Given the description of an element on the screen output the (x, y) to click on. 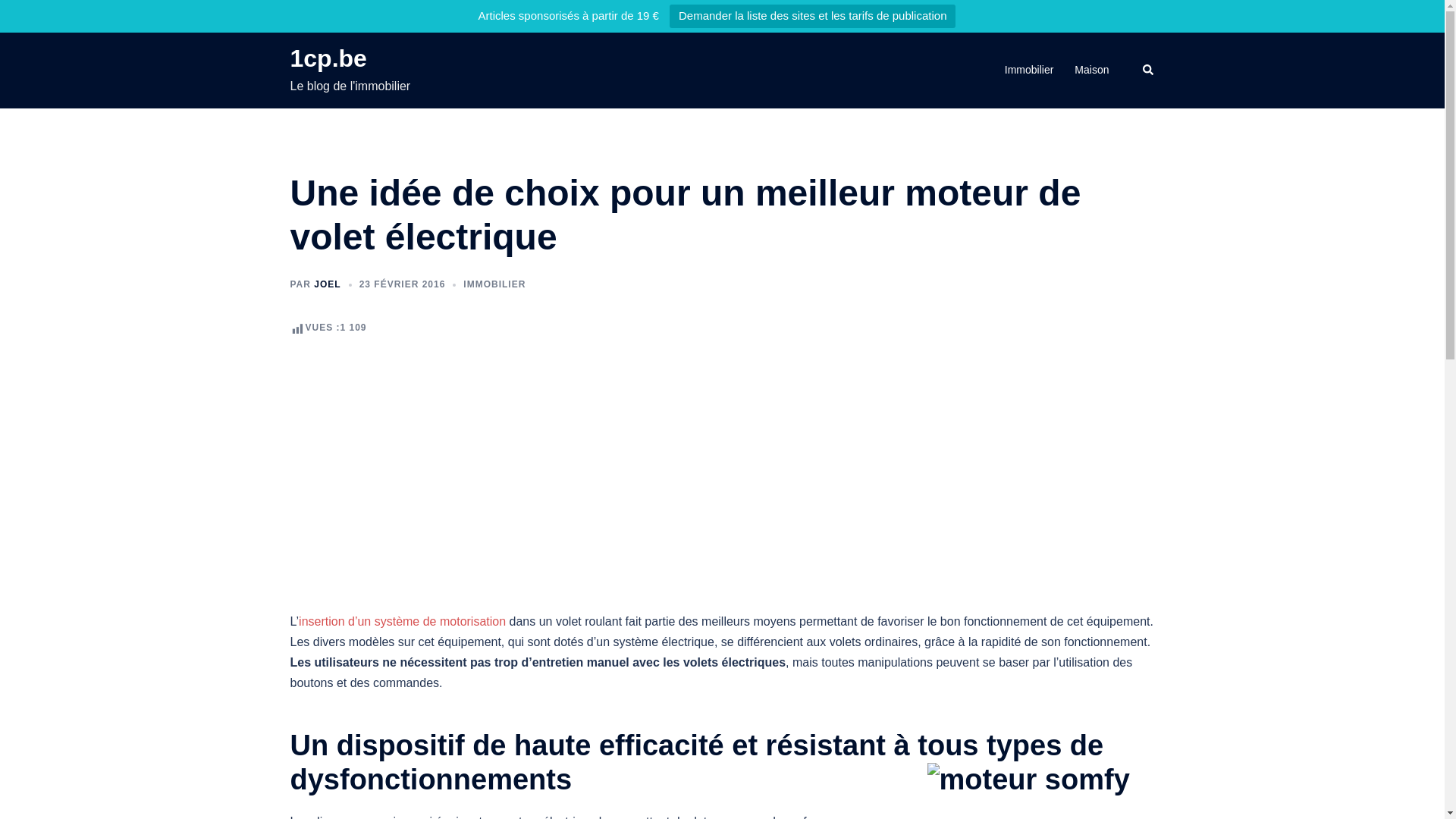
JOEL Element type: text (326, 284)
Maison Element type: text (1091, 70)
1cp.be Element type: text (327, 58)
Immobilier Element type: text (1029, 70)
IMMOBILIER Element type: text (494, 284)
Demander la liste des sites et les tarifs de publication Element type: text (812, 16)
Advertisement Element type: hover (721, 455)
